Given the description of an element on the screen output the (x, y) to click on. 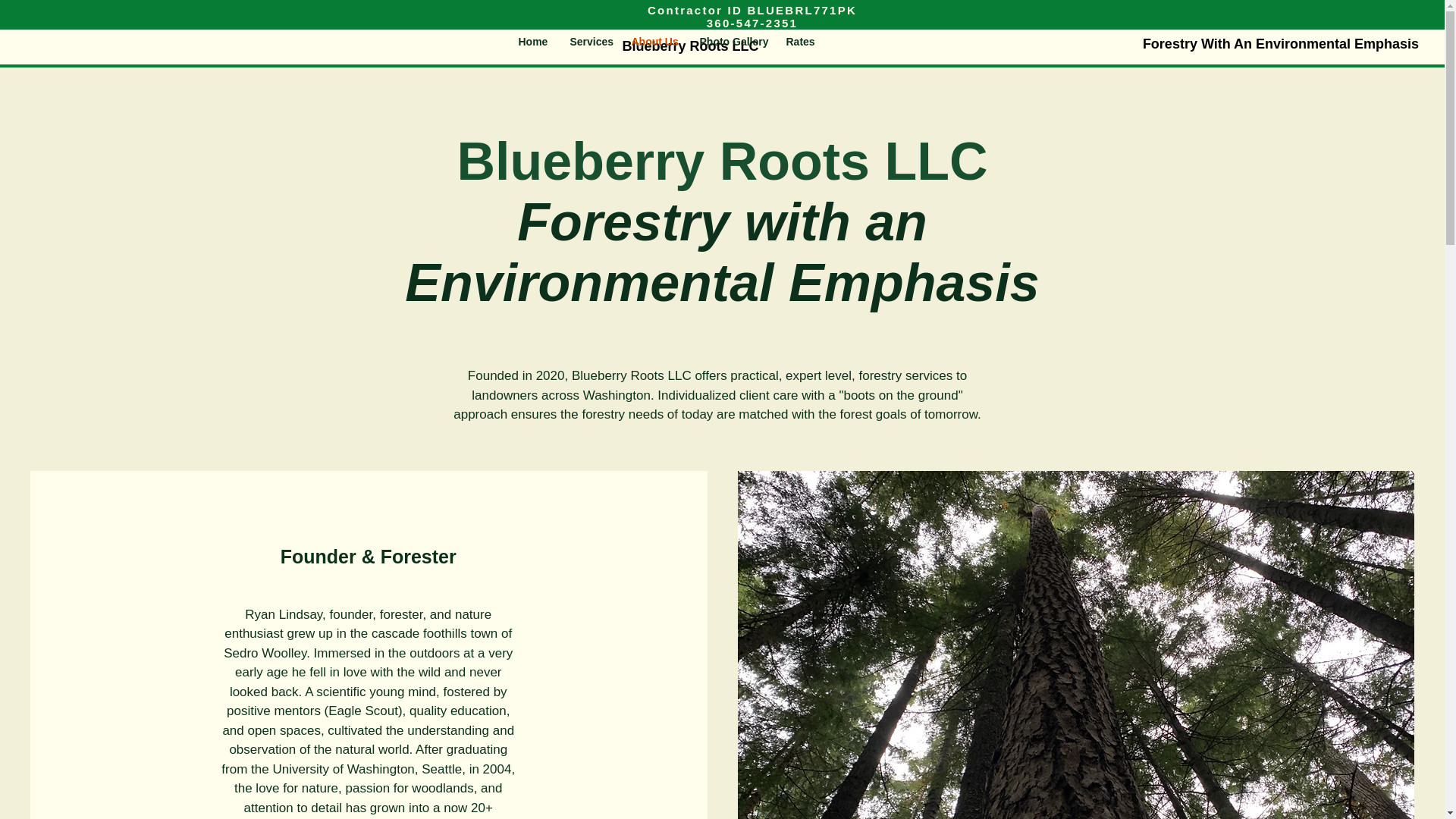
Forestry With An Environmental Emphasis (1280, 43)
Services (588, 41)
Blueberry Roots LLC (689, 46)
Photo Gallery (731, 41)
Home (531, 41)
Rates (799, 41)
About Us (654, 41)
